Given the description of an element on the screen output the (x, y) to click on. 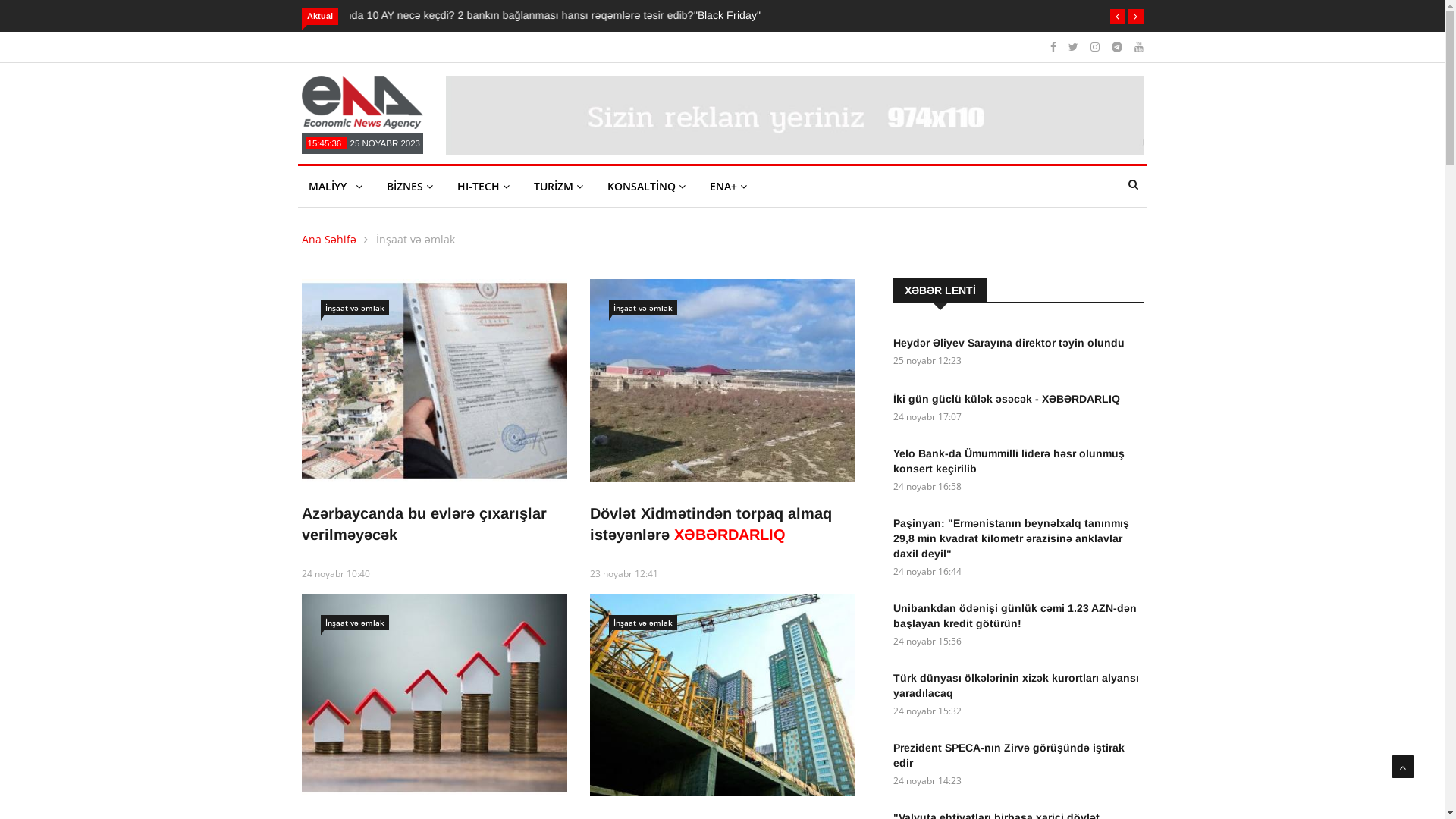
23 noyabr 12:41 Element type: text (623, 573)
HI-TECH Element type: text (482, 186)
ENA+ Element type: text (728, 186)
Back to Top Element type: hover (1402, 766)
24 noyabr 10:40 Element type: text (335, 573)
logo Element type: hover (362, 101)
logo Element type: hover (794, 114)
